Given the description of an element on the screen output the (x, y) to click on. 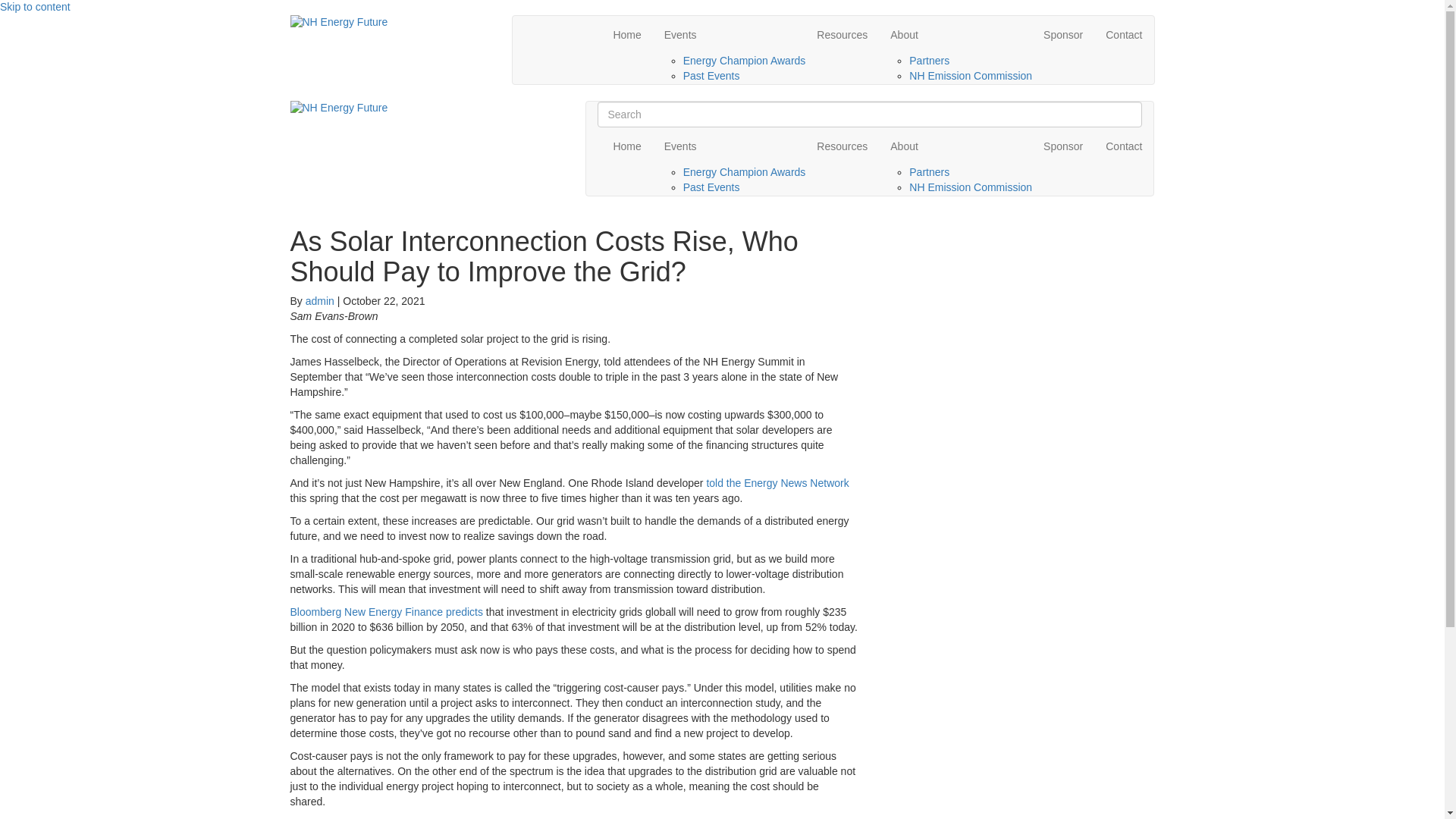
Past Events (710, 75)
Past Events (710, 186)
Contact (1123, 34)
Energy Champion Awards (744, 60)
Partners (928, 172)
told the Energy News Network (777, 482)
admin (319, 300)
NH Emission Commission (970, 75)
Skip to content (34, 6)
Contact (1123, 146)
Resources (842, 146)
Sponsor (1063, 146)
Resources (842, 34)
Bloomberg New Energy Finance predicts (385, 612)
NH Emission Commission (970, 186)
